Given the description of an element on the screen output the (x, y) to click on. 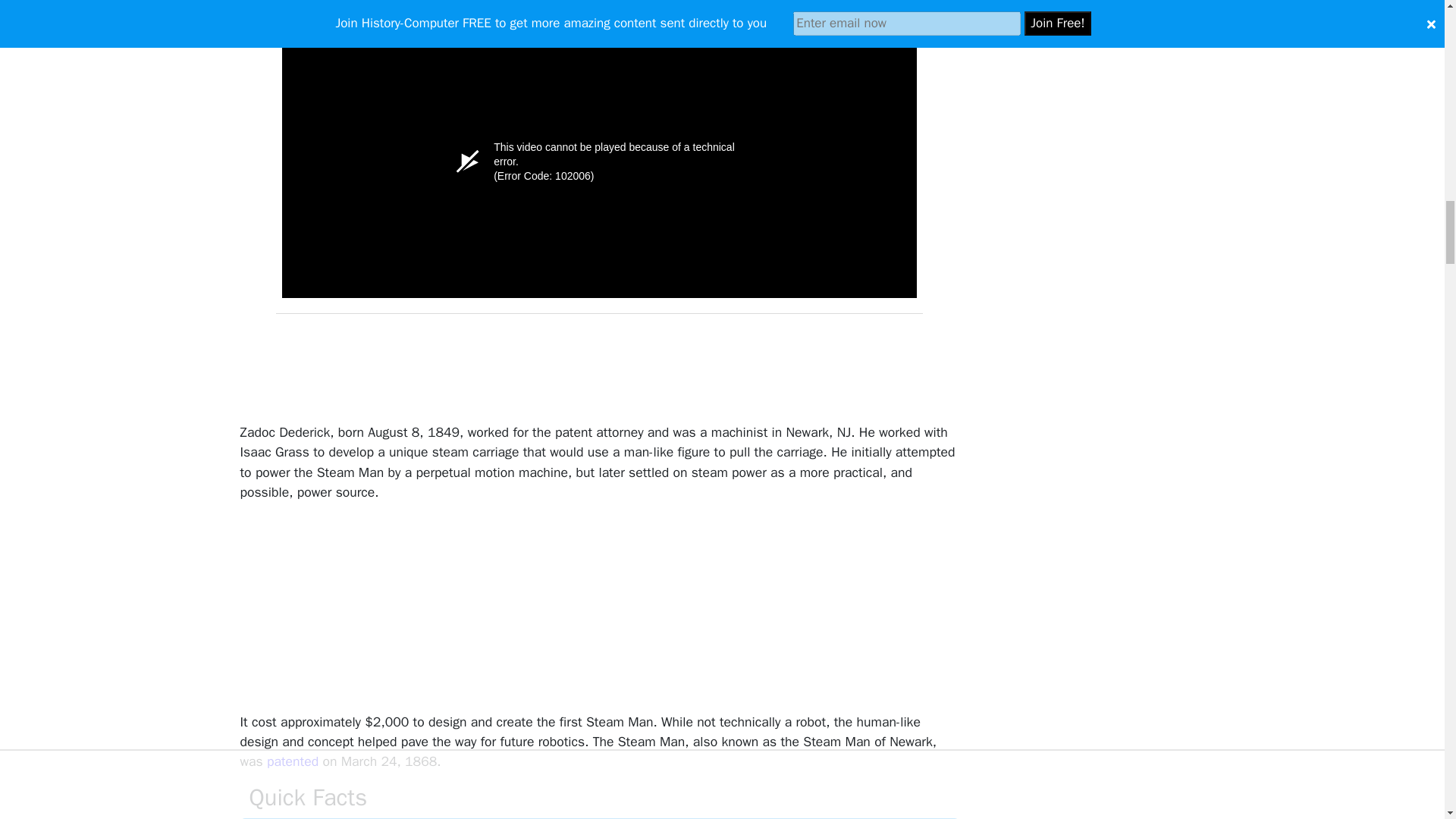
patented (292, 760)
